Given the description of an element on the screen output the (x, y) to click on. 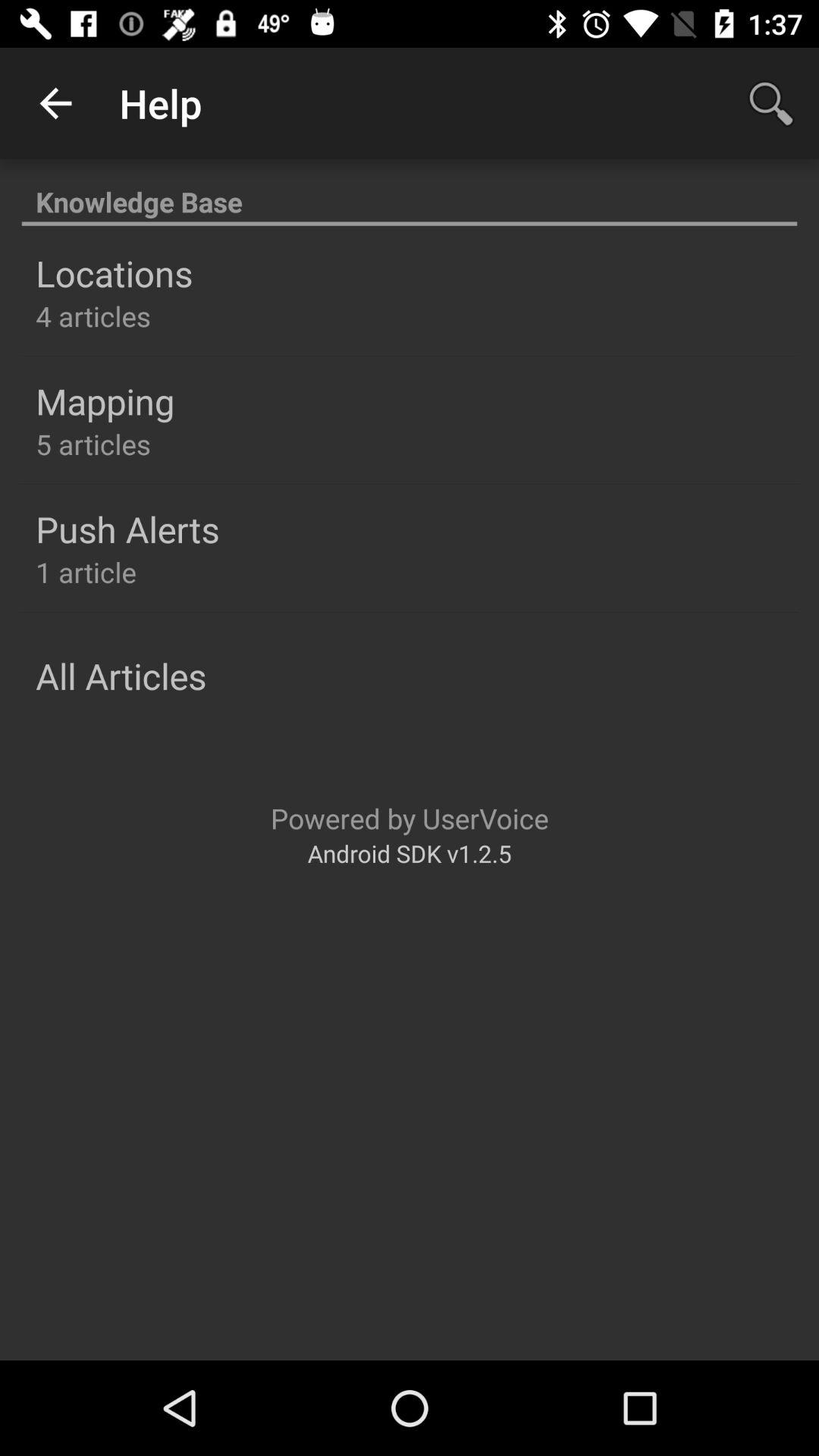
jump to the all articles (120, 675)
